Given the description of an element on the screen output the (x, y) to click on. 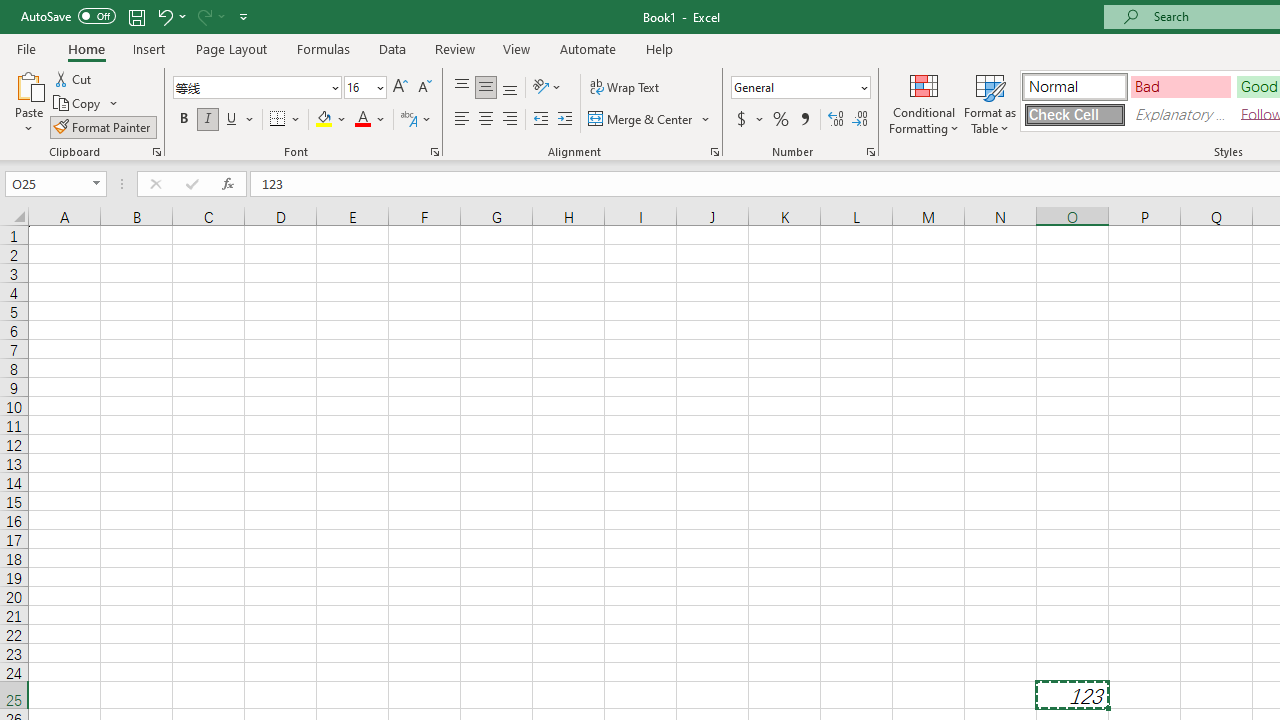
Accounting Number Format (749, 119)
System (10, 11)
Check Cell (1074, 114)
Format as Table (990, 102)
Name Box (56, 183)
Merge & Center (641, 119)
Home (86, 48)
System (10, 11)
Normal (1074, 86)
Middle Align (485, 87)
Format Cell Font (434, 151)
Center (485, 119)
Bad (1180, 86)
Format Cell Number (870, 151)
File Tab (26, 48)
